Given the description of an element on the screen output the (x, y) to click on. 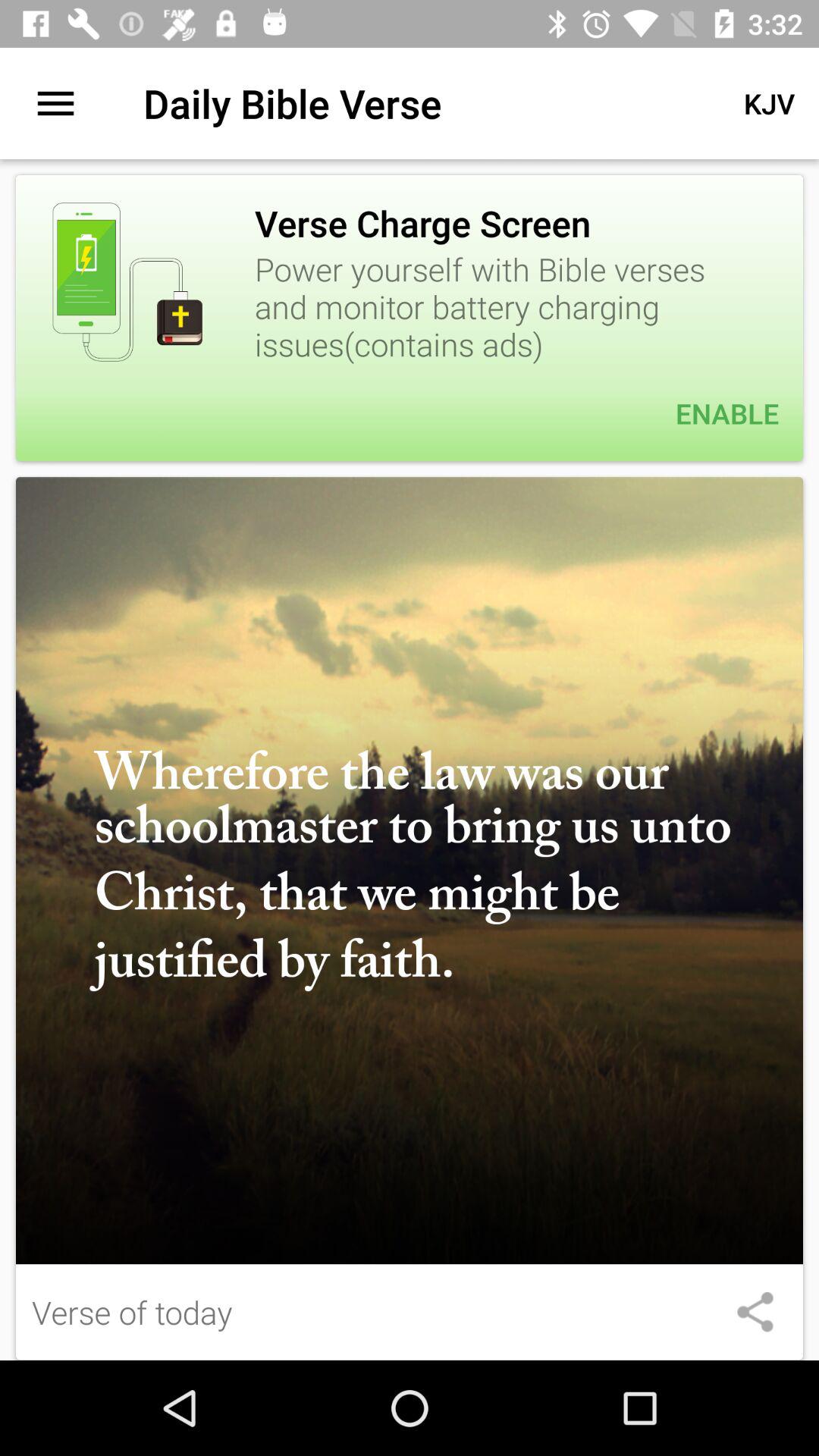
flip until kjv item (769, 103)
